Given the description of an element on the screen output the (x, y) to click on. 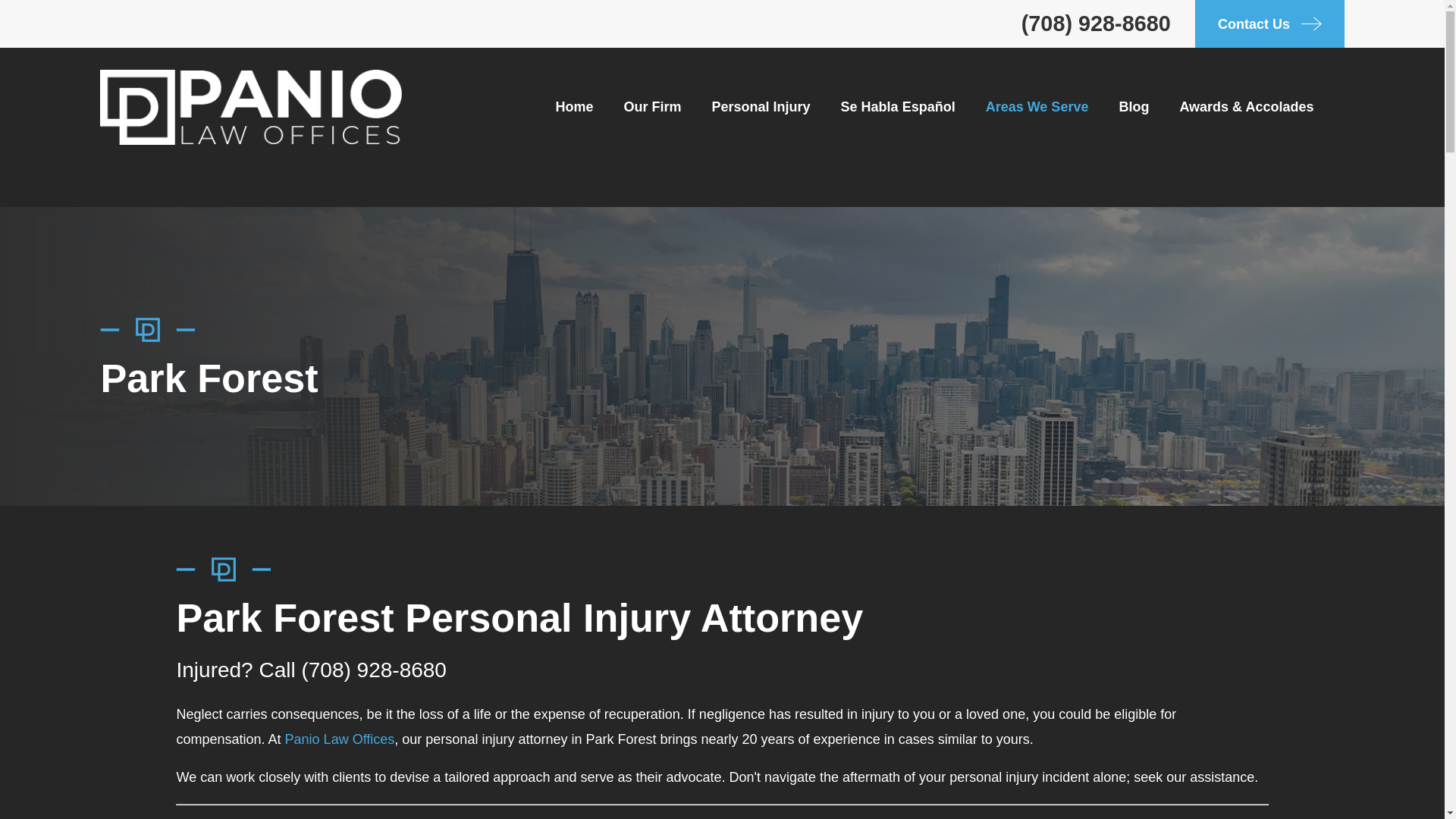
Areas We Serve (1037, 106)
Home (250, 106)
Our Firm (652, 106)
Personal Injury (760, 106)
Contact Us (1269, 23)
